Given the description of an element on the screen output the (x, y) to click on. 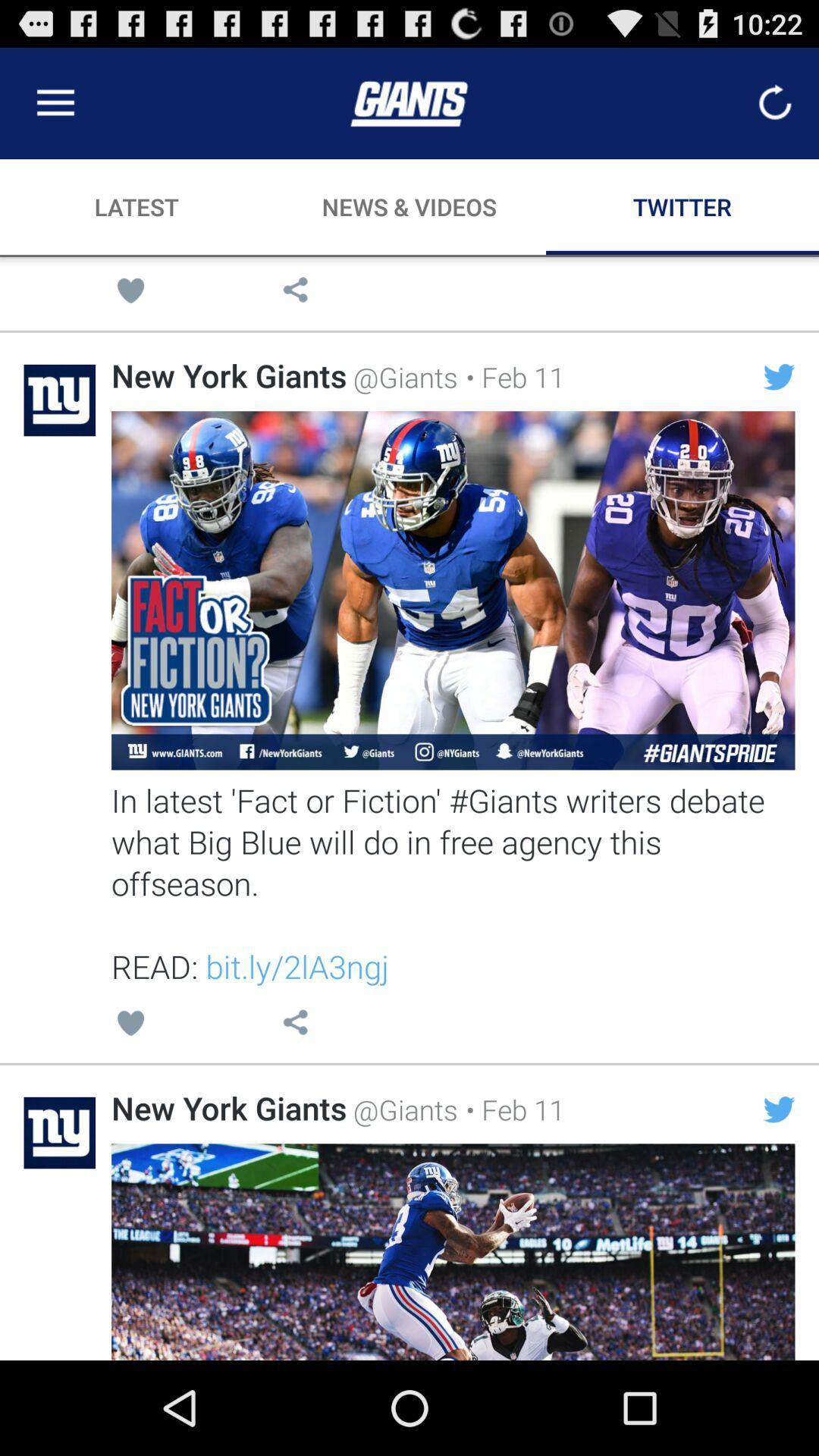
enlarge image (453, 590)
